Given the description of an element on the screen output the (x, y) to click on. 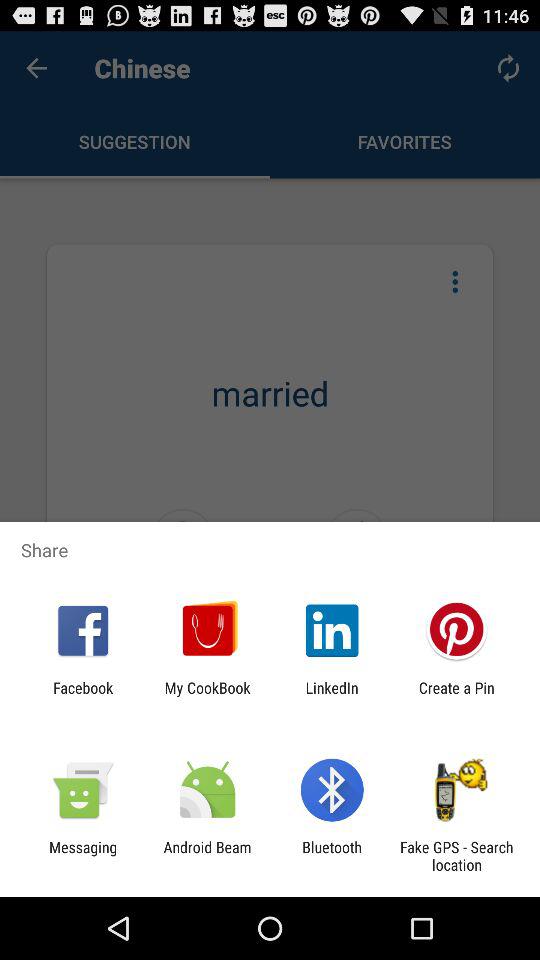
tap item next to messaging item (207, 856)
